Given the description of an element on the screen output the (x, y) to click on. 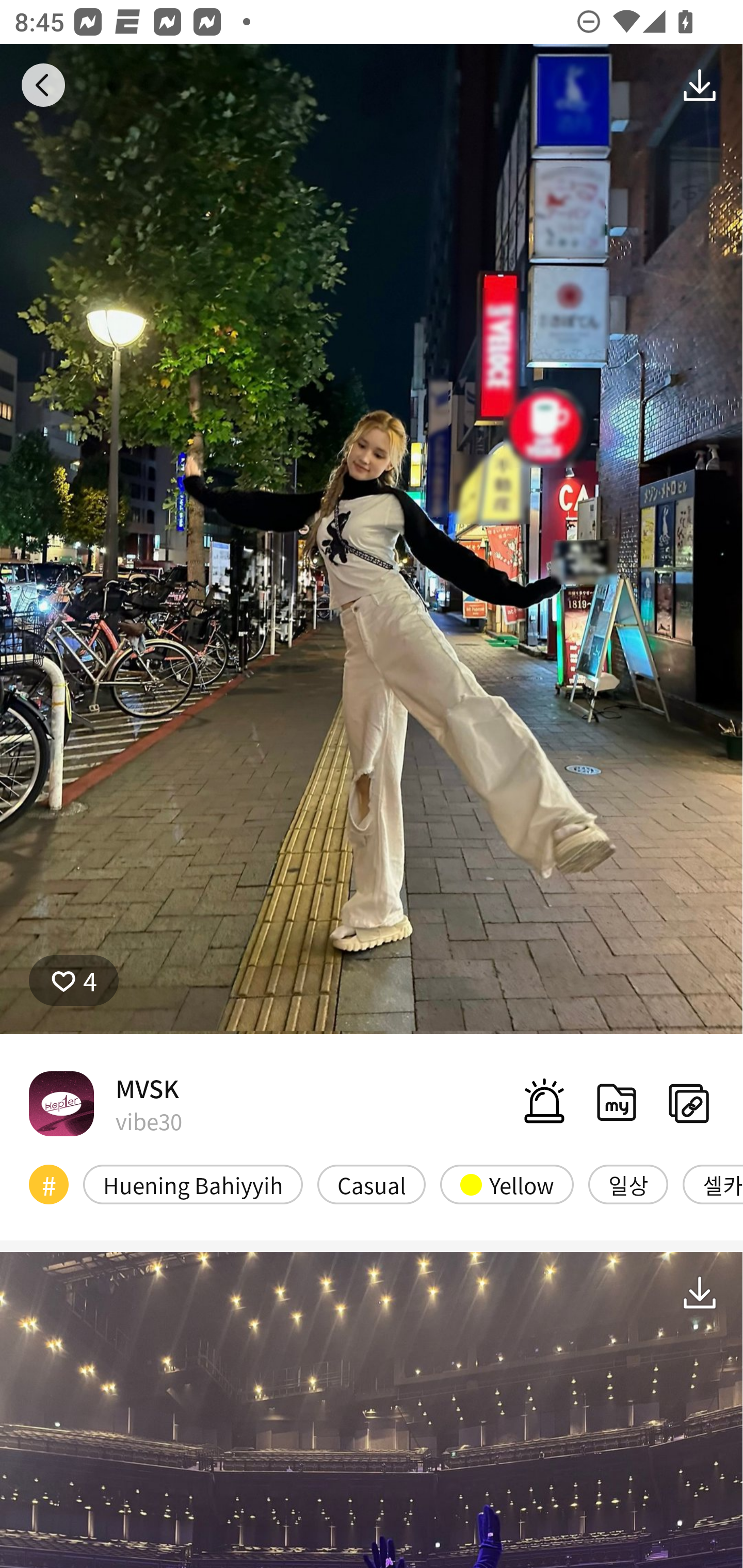
4 (73, 980)
MVSK vibe30 (105, 1102)
Huening Bahiyyih (193, 1184)
Casual (371, 1184)
Yellow (506, 1184)
일상 (627, 1184)
셀카 (712, 1184)
